Given the description of an element on the screen output the (x, y) to click on. 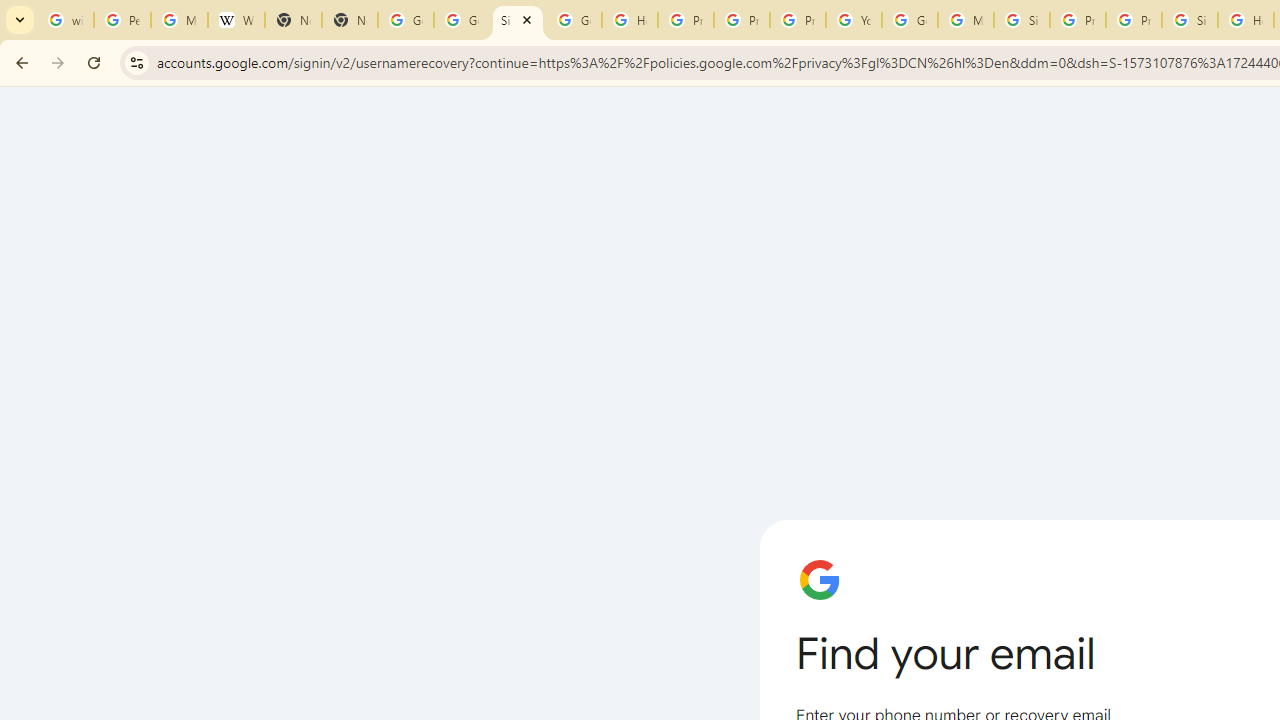
Personalization & Google Search results - Google Search Help (122, 20)
Wikipedia:Edit requests - Wikipedia (235, 20)
Sign in - Google Accounts (518, 20)
Sign in - Google Accounts (1021, 20)
